Given the description of an element on the screen output the (x, y) to click on. 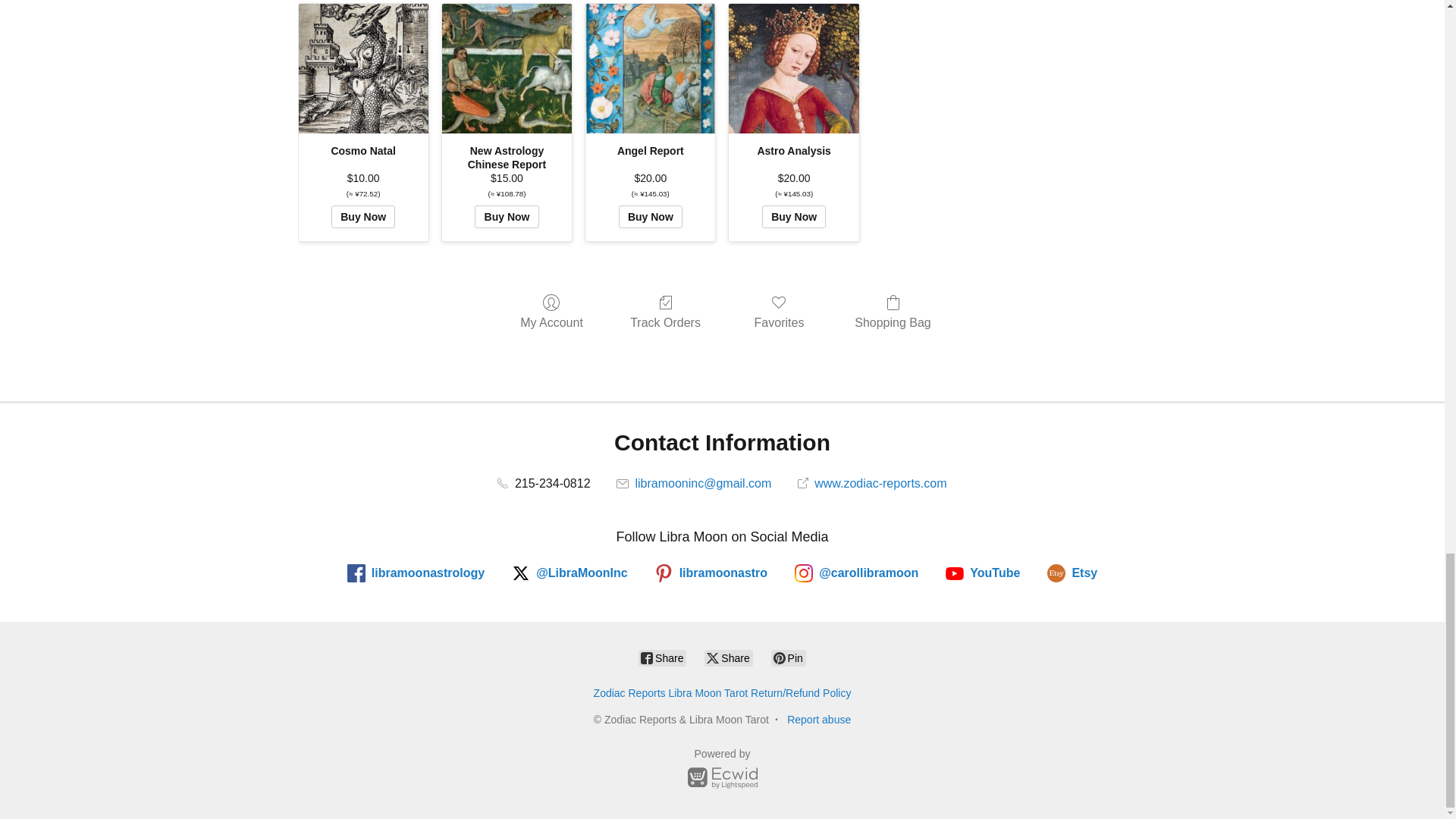
Astro Analysis (793, 68)
Angel Report (649, 69)
Cosmo Natal (363, 68)
Cosmo Natal (363, 68)
Angel Report (649, 68)
Astro Analysis (794, 68)
New Astrology Chinese Report (506, 68)
New Astrology Chinese Report (507, 68)
